Given the description of an element on the screen output the (x, y) to click on. 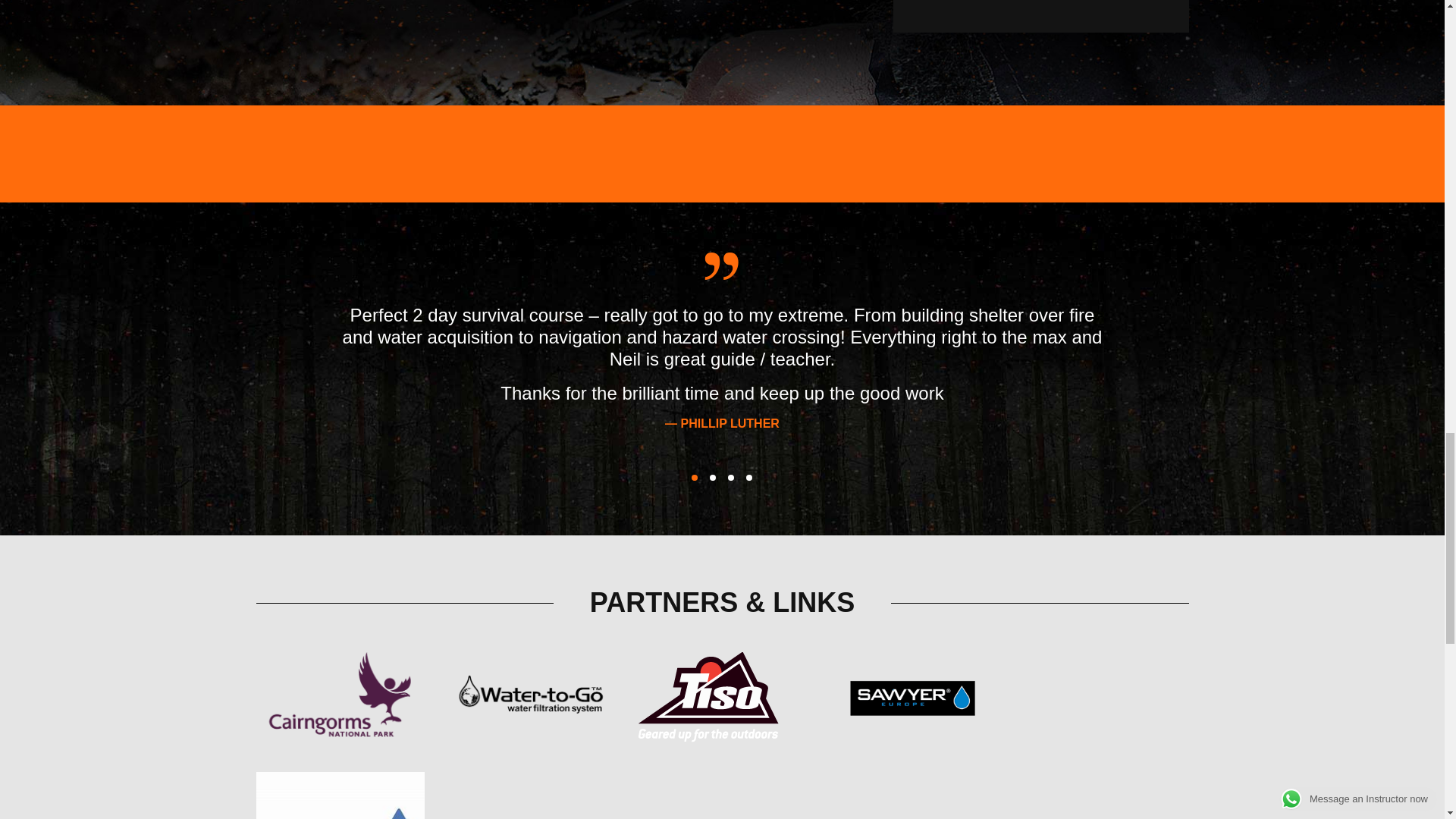
First slide details. (730, 477)
First slide details. (748, 477)
First slide details. (713, 477)
First slide details. (694, 477)
